Given the description of an element on the screen output the (x, y) to click on. 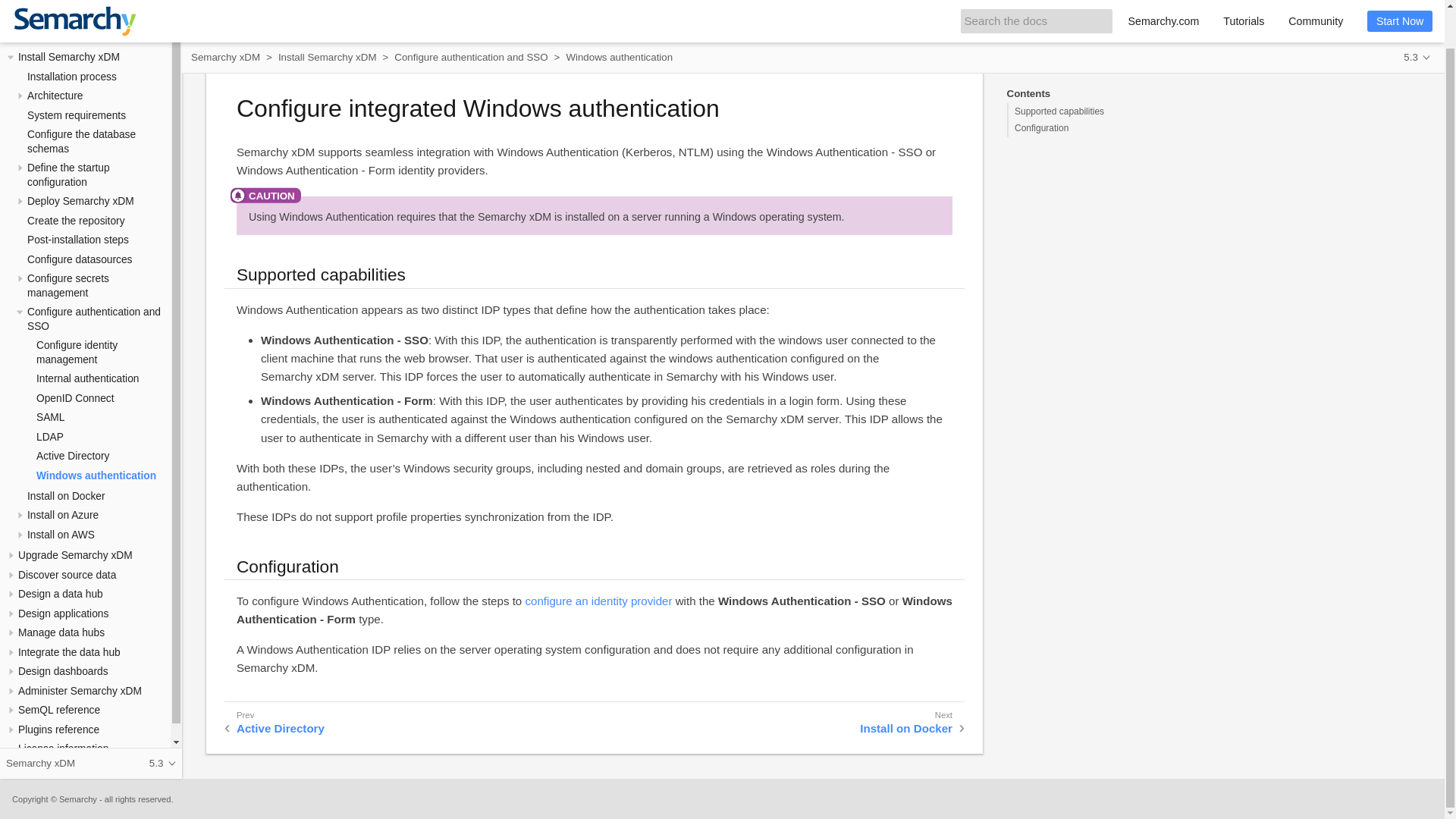
Installation process (71, 76)
Tutorials (1243, 1)
Architecture (54, 95)
Install Semarchy xDM (68, 57)
Deploy Semarchy xDM (80, 201)
Configure the database schemas (81, 141)
Define the startup configuration (68, 175)
Community (1315, 1)
System requirements (76, 115)
Semarchy.com (1163, 1)
